Given the description of an element on the screen output the (x, y) to click on. 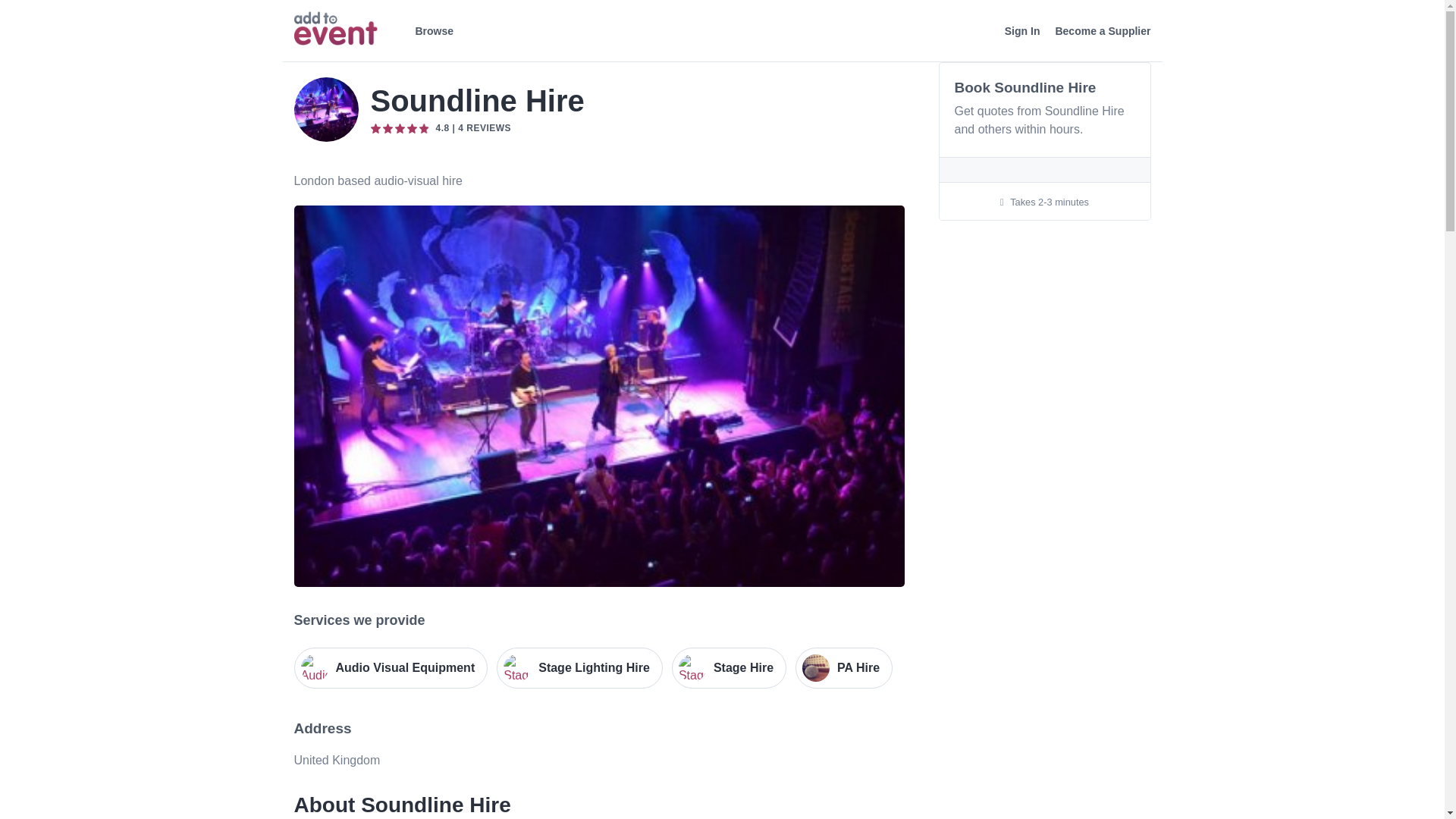
Stage Lighting Hire (579, 667)
PA Hire (843, 667)
Become a Supplier (1102, 31)
Audio Visual Equipment (390, 667)
Home (335, 28)
Stage Hire (728, 667)
